Given the description of an element on the screen output the (x, y) to click on. 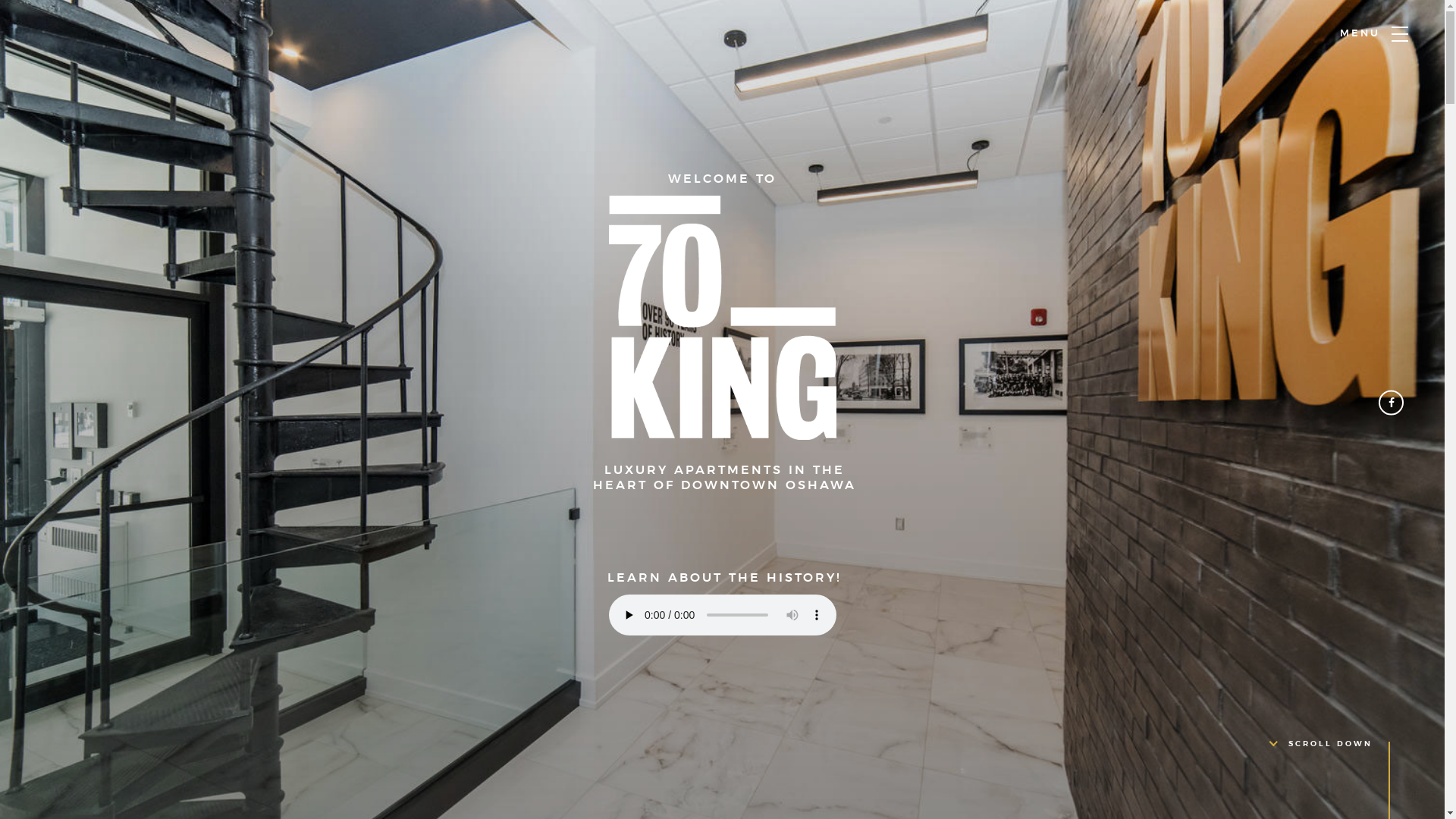
SCROLL DOWN Element type: text (1320, 743)
MENU Element type: text (1399, 34)
